Given the description of an element on the screen output the (x, y) to click on. 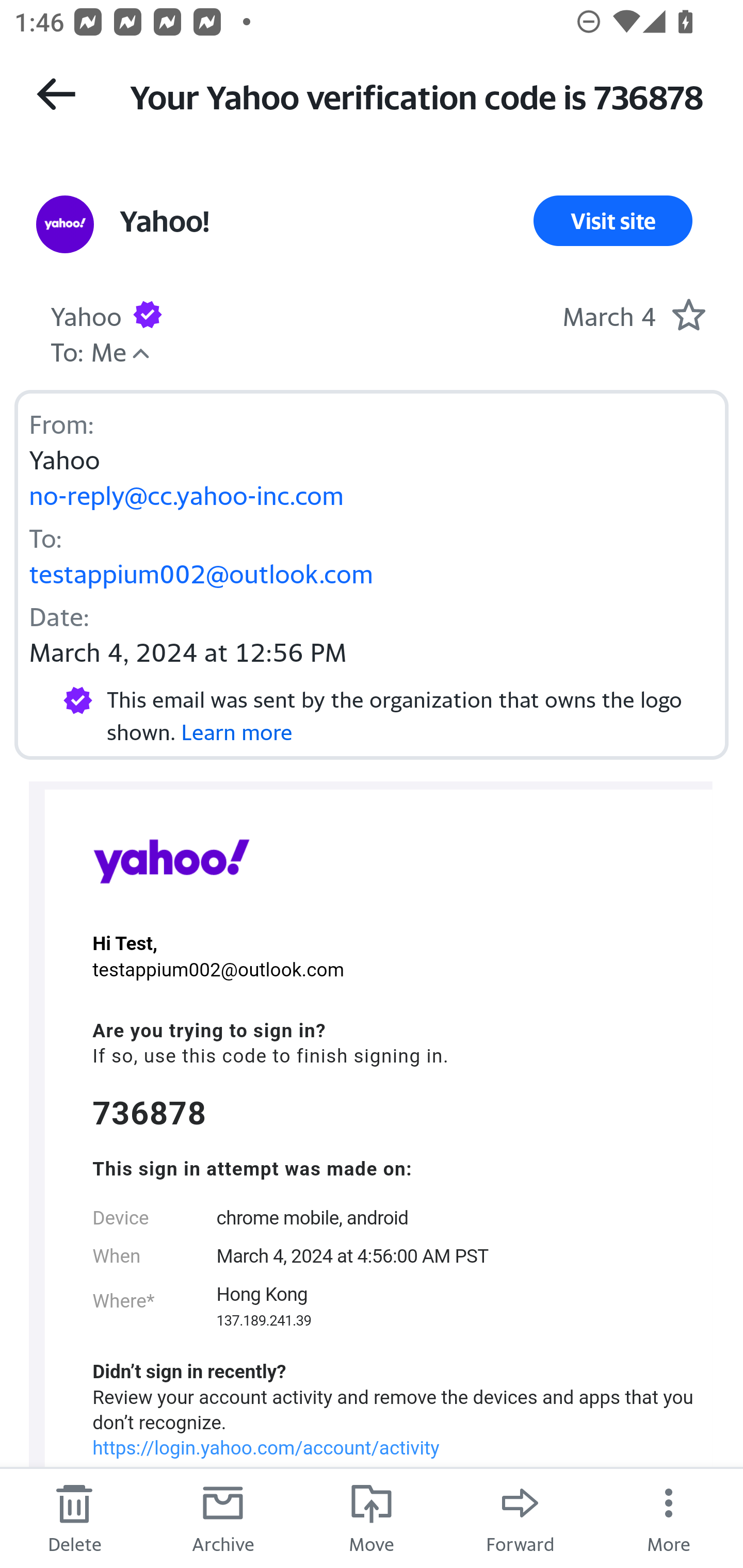
Back (55, 93)
Your Yahoo verification code is 736878 (418, 94)
View all messages from sender (64, 225)
Visit site Visit Site Link (612, 221)
Yahoo! Sender Yahoo! (164, 220)
Yahoo Sender Yahoo (86, 314)
Mark as starred. (688, 314)
To: Me Hide details (88, 350)
Yahoo (171, 860)
https://login.yahoo.com/account/activity (265, 1447)
Delete (74, 1517)
Archive (222, 1517)
Move (371, 1517)
Forward (519, 1517)
More (668, 1517)
